Given the description of an element on the screen output the (x, y) to click on. 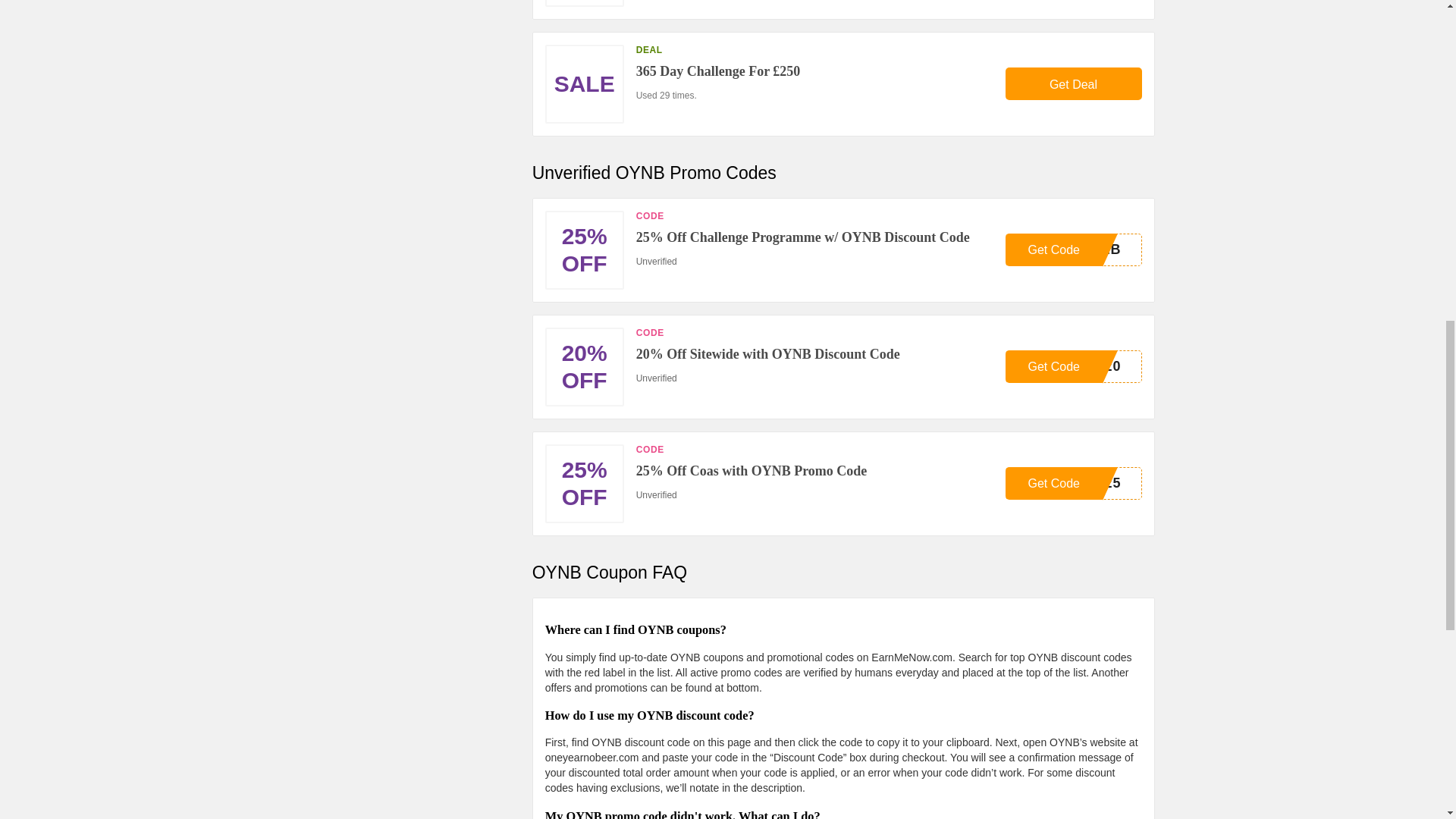
Get Deal (1073, 482)
